Given the description of an element on the screen output the (x, y) to click on. 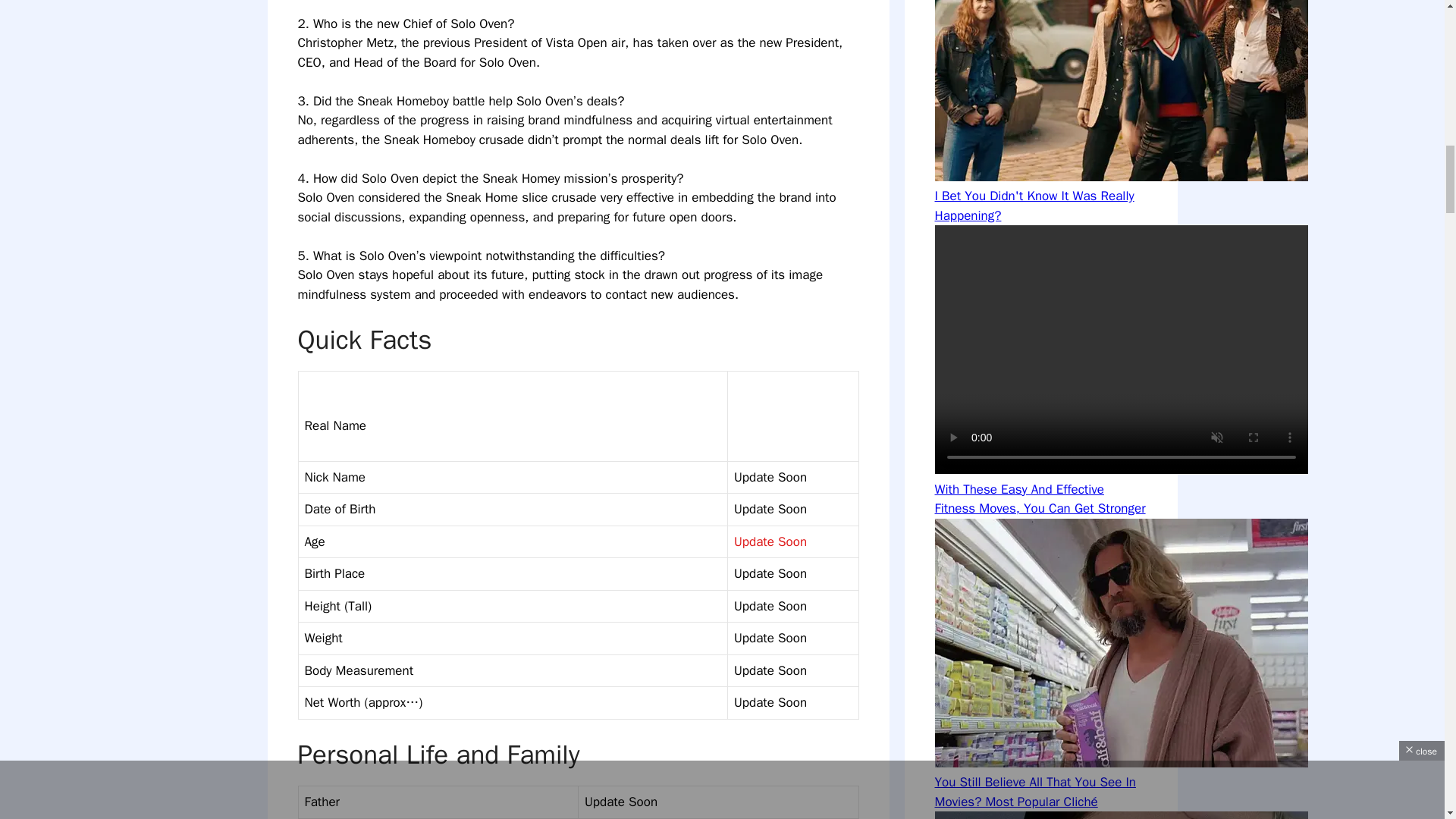
Update Soon (769, 541)
